Given the description of an element on the screen output the (x, y) to click on. 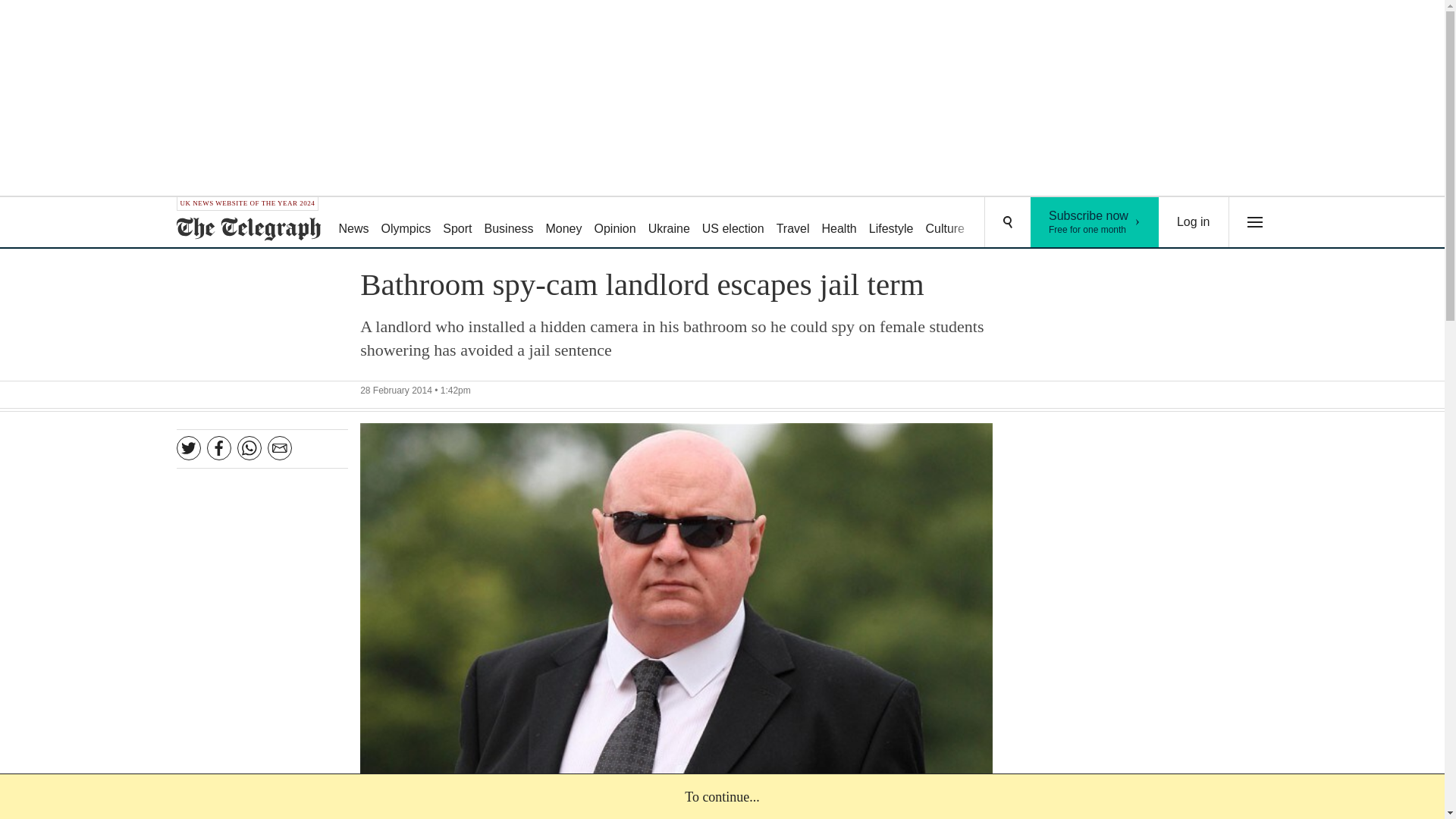
Money (1094, 222)
Puzzles (563, 223)
Culture (998, 223)
Travel (944, 223)
Ukraine (792, 223)
Lifestyle (668, 223)
Health (891, 223)
US election (838, 223)
Opinion (732, 223)
